Given the description of an element on the screen output the (x, y) to click on. 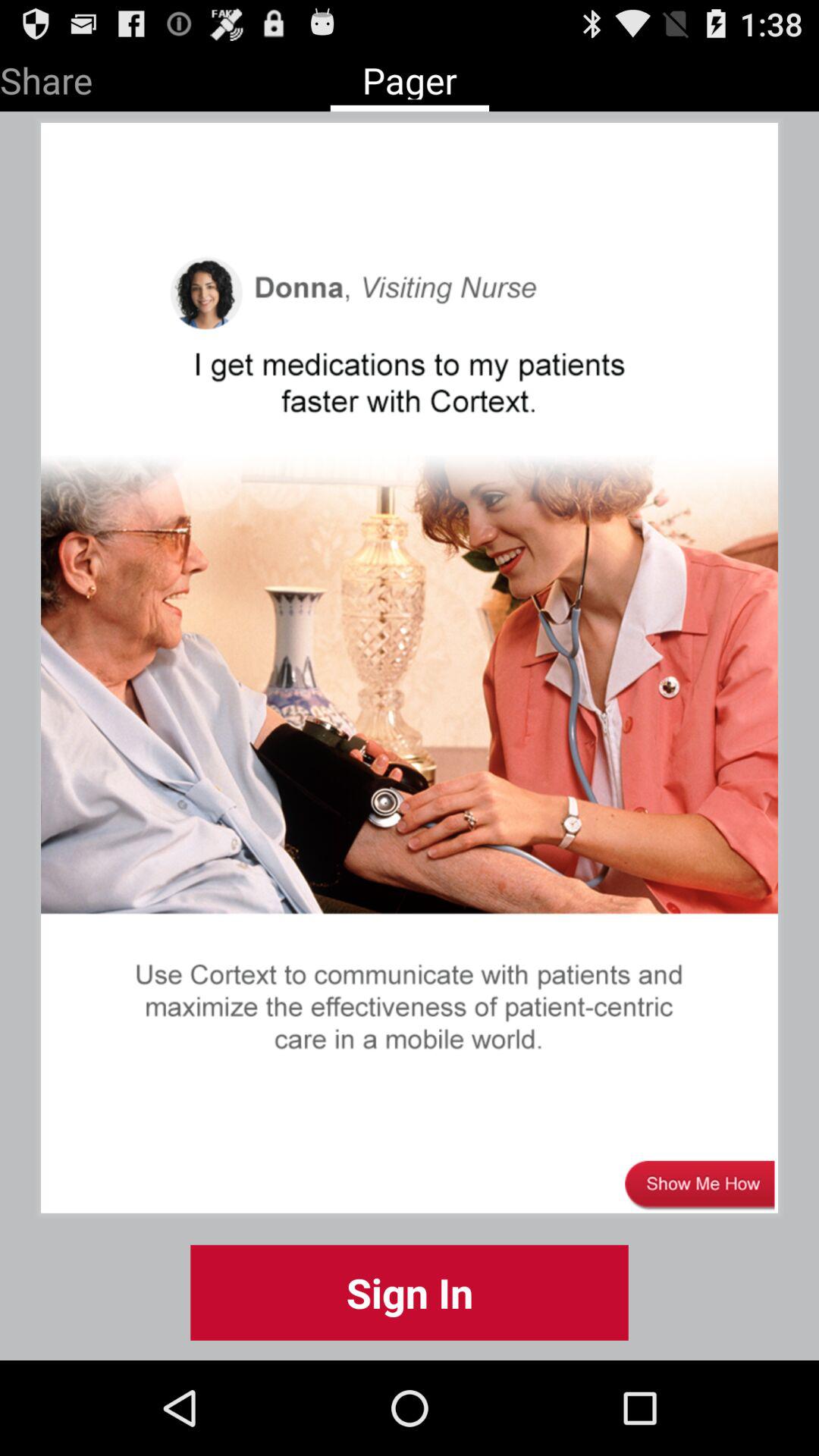
select the item next to pager icon (46, 77)
